Given the description of an element on the screen output the (x, y) to click on. 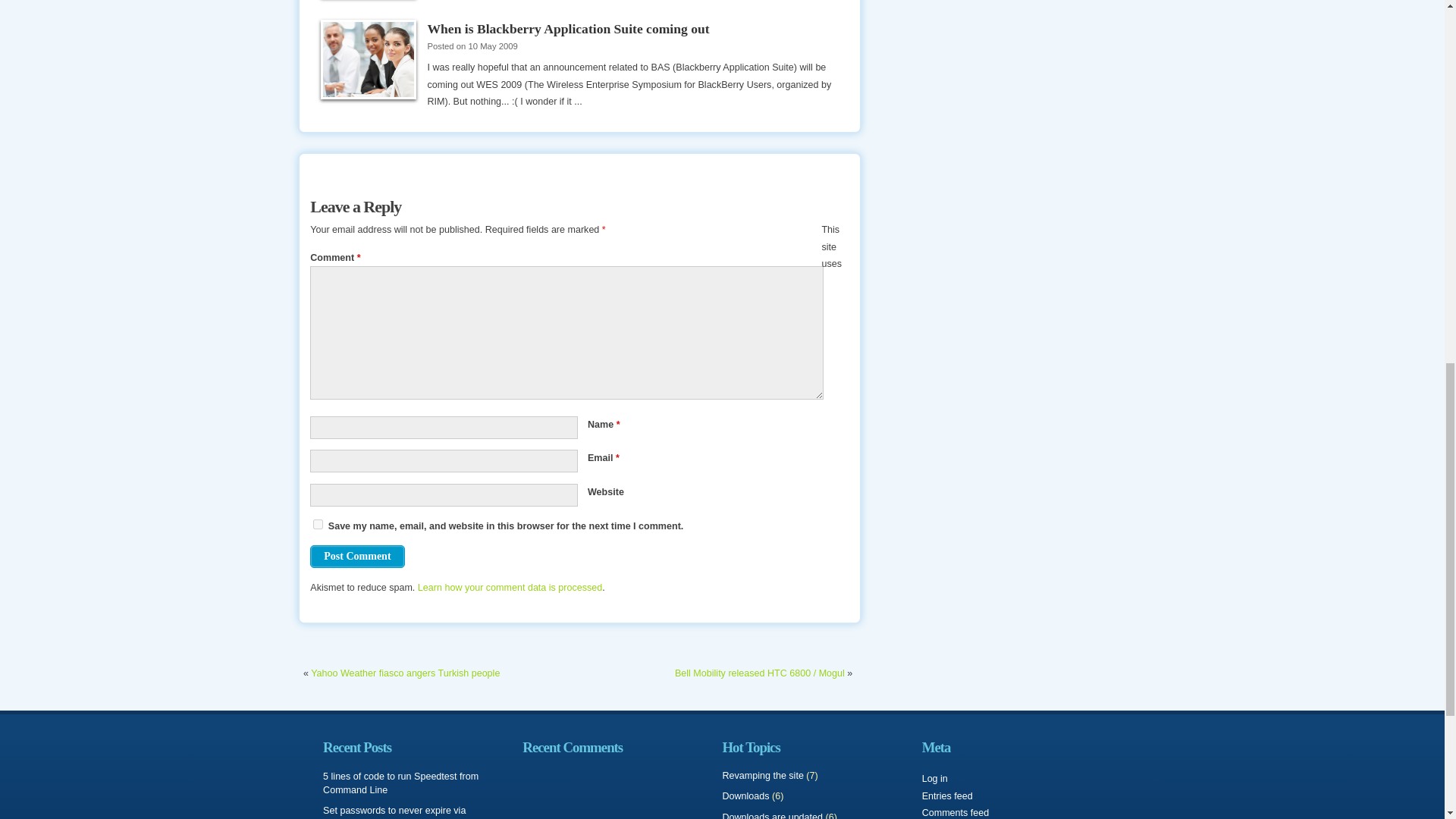
Log in (934, 778)
Downloads are updated (772, 815)
yes (318, 524)
5 lines of code to run Speedtest from Command Line (401, 783)
When is Blackberry Application Suite coming out (368, 58)
When is Blackberry Application Suite coming out (567, 28)
Entries feed (946, 796)
When is Blackberry Application Suite coming out (567, 28)
Downloads (745, 796)
Set passwords to never expire via Command Line on Windows (394, 812)
Revamping the site (762, 775)
Comments feed (955, 812)
Post Comment (357, 556)
Yahoo Weather fiasco angers Turkish people (405, 673)
Post Comment (357, 556)
